Given the description of an element on the screen output the (x, y) to click on. 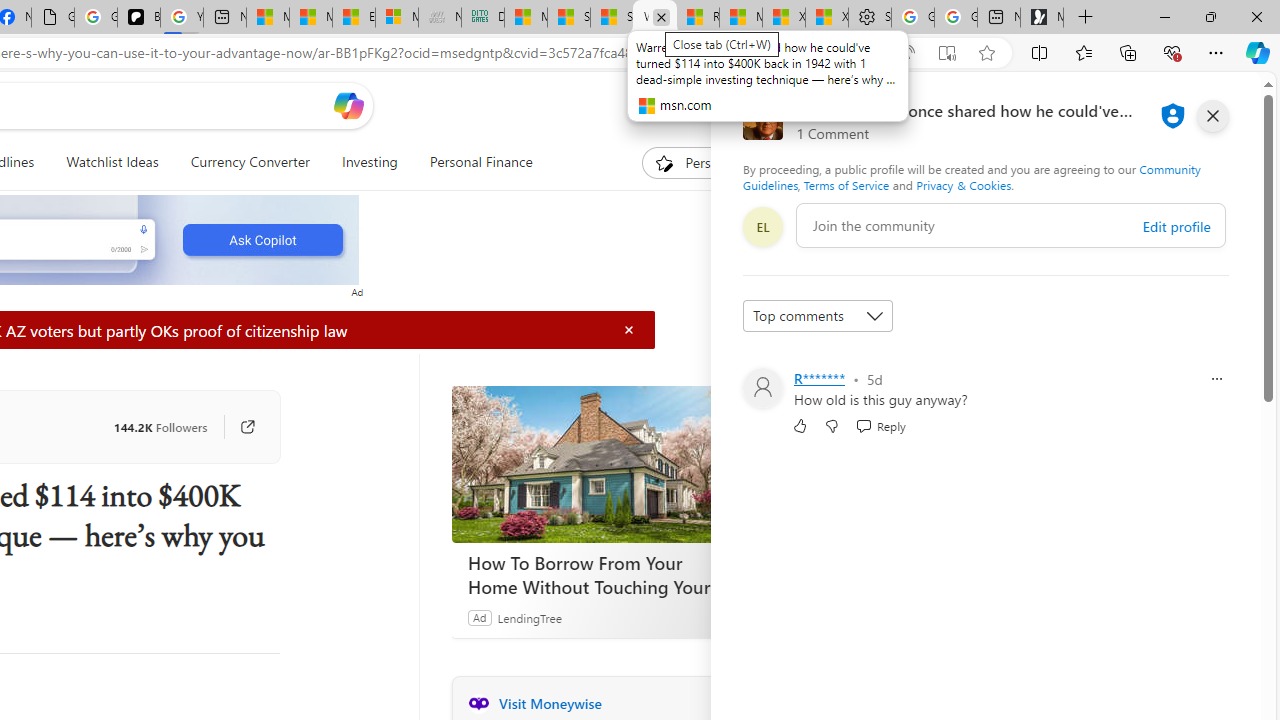
comment-box (1011, 225)
Personal Finance (472, 162)
Personal Finance (480, 162)
LendingTree (528, 617)
Like (799, 425)
Be Smart | creating Science videos | Patreon (138, 17)
R******* | Trusted Community Engagement and Contributions (698, 17)
